Given the description of an element on the screen output the (x, y) to click on. 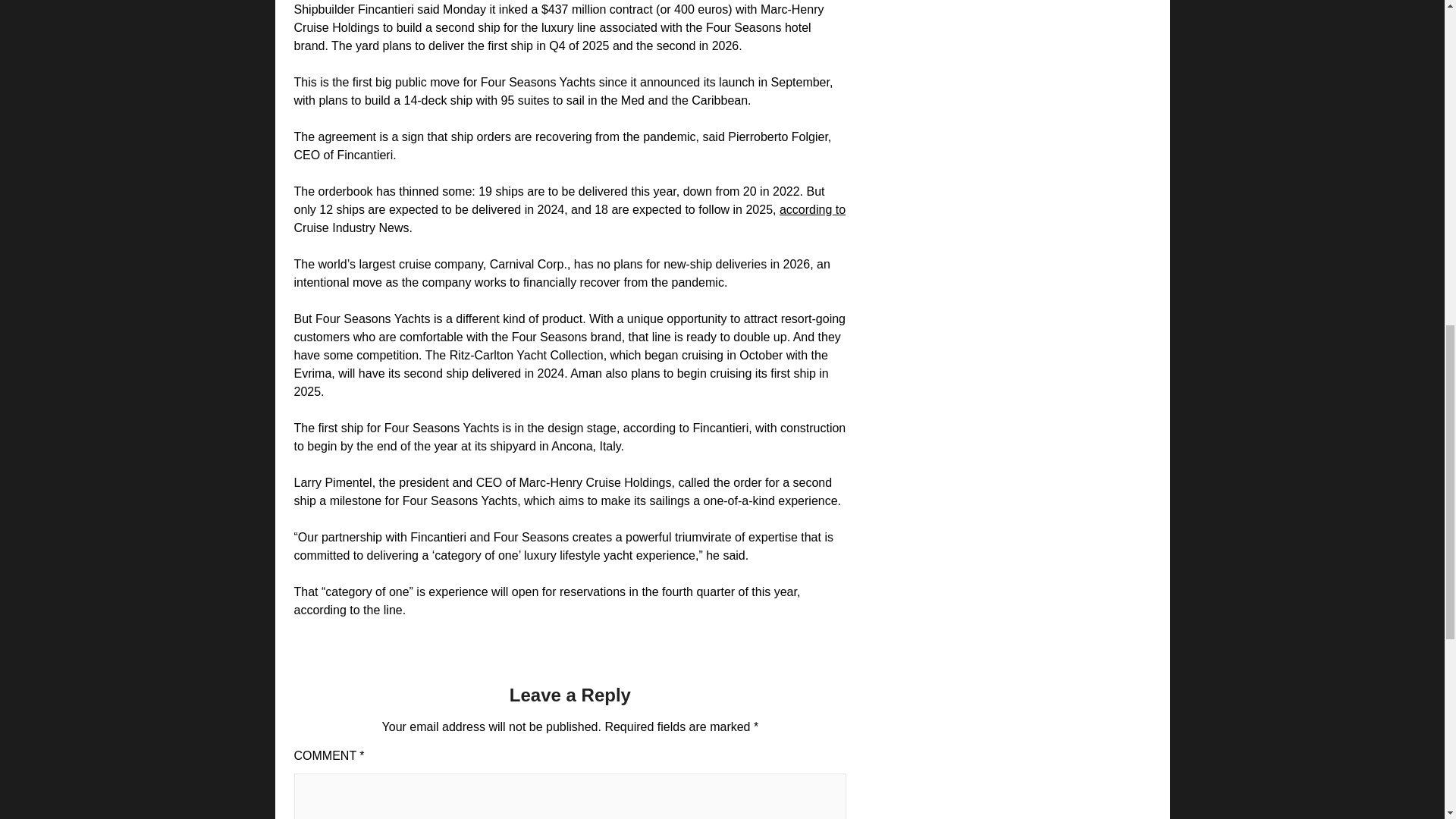
according to (811, 209)
according to (811, 209)
